Given the description of an element on the screen output the (x, y) to click on. 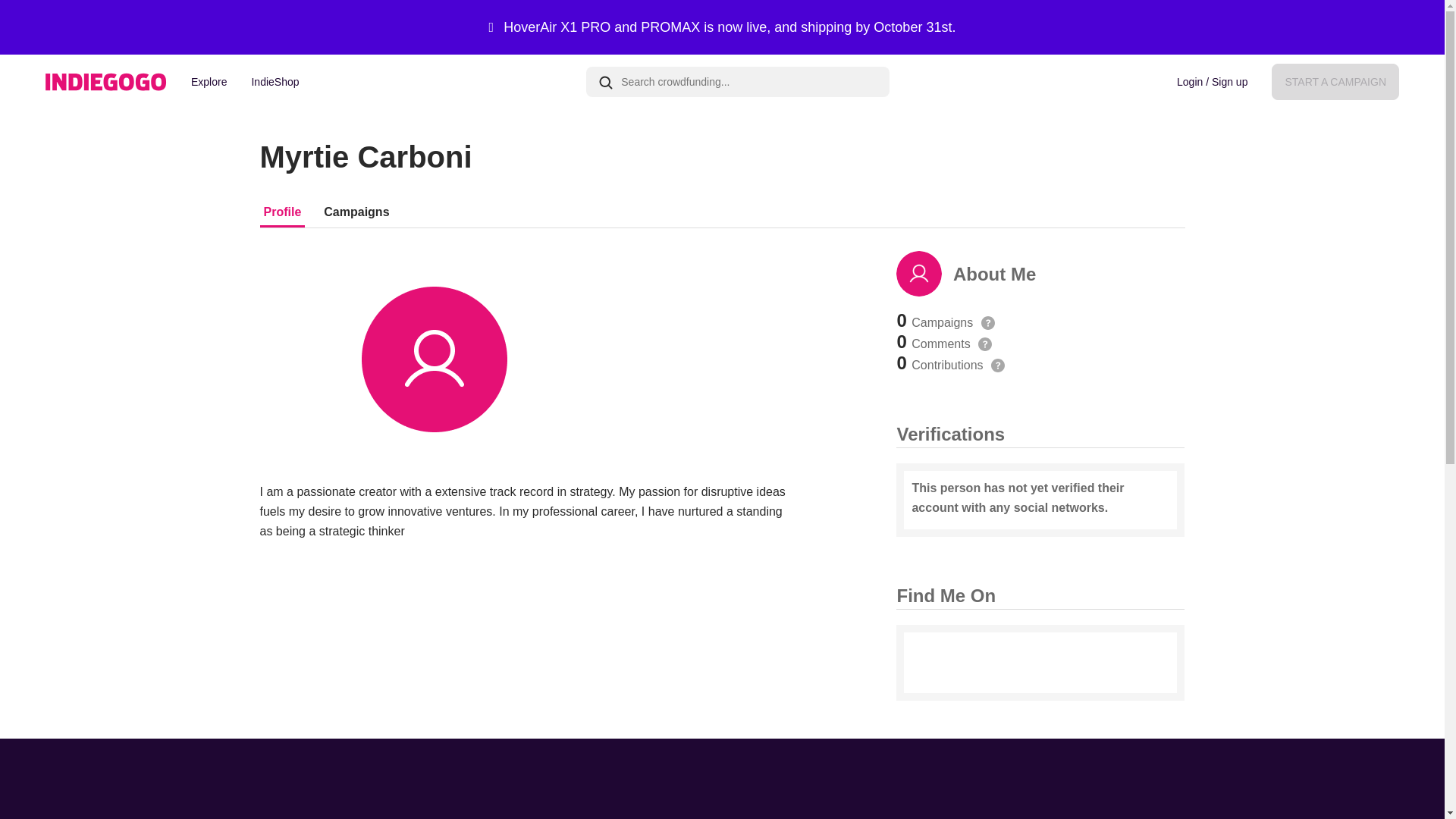
Logo (106, 81)
Campaigns (355, 211)
IndieShop (274, 81)
Search (605, 82)
Explore (208, 81)
Website (932, 663)
START A CAMPAIGN (1335, 81)
Logo (106, 81)
Profile (282, 211)
